Given the description of an element on the screen output the (x, y) to click on. 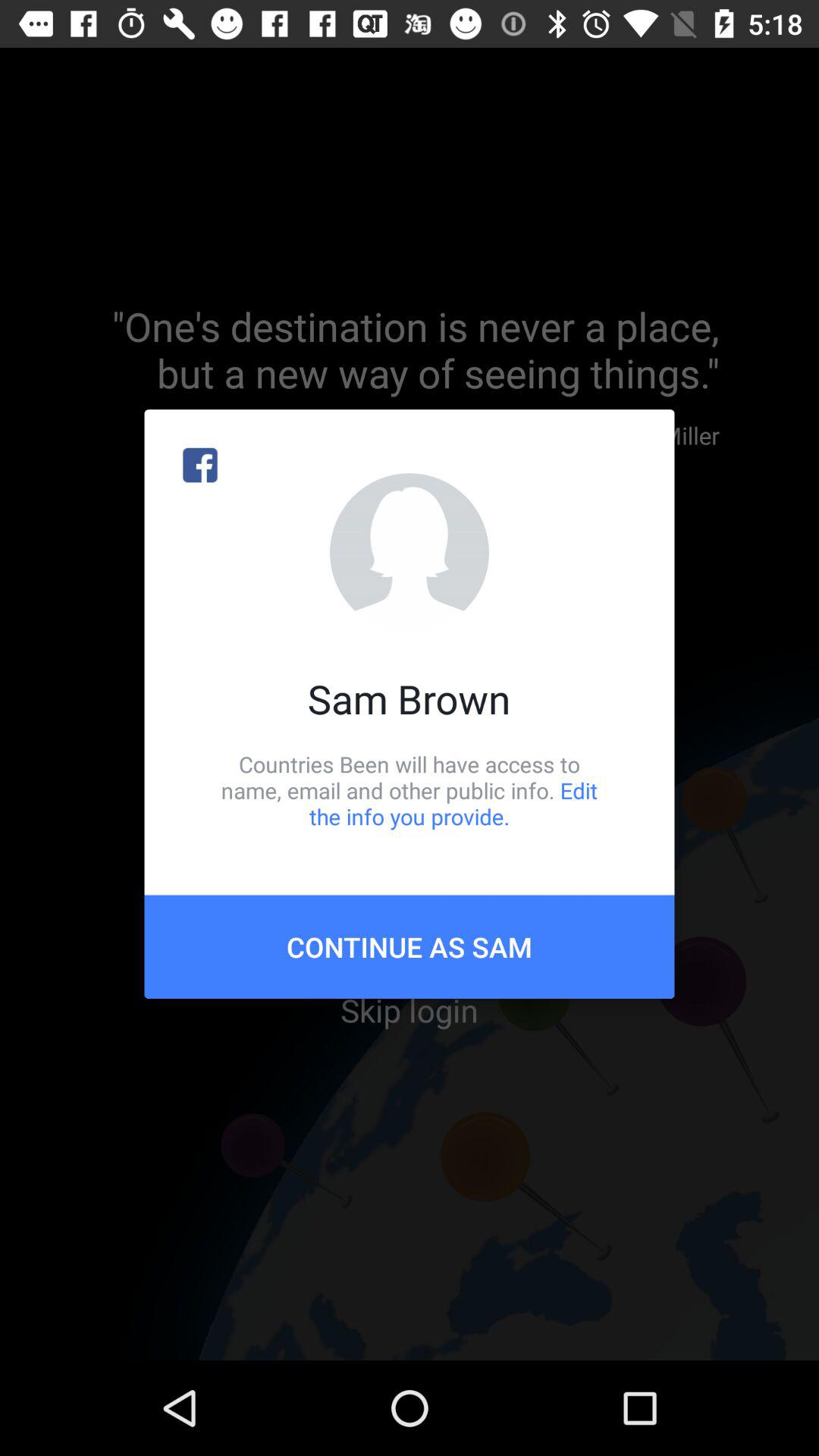
launch countries been will (409, 790)
